Given the description of an element on the screen output the (x, y) to click on. 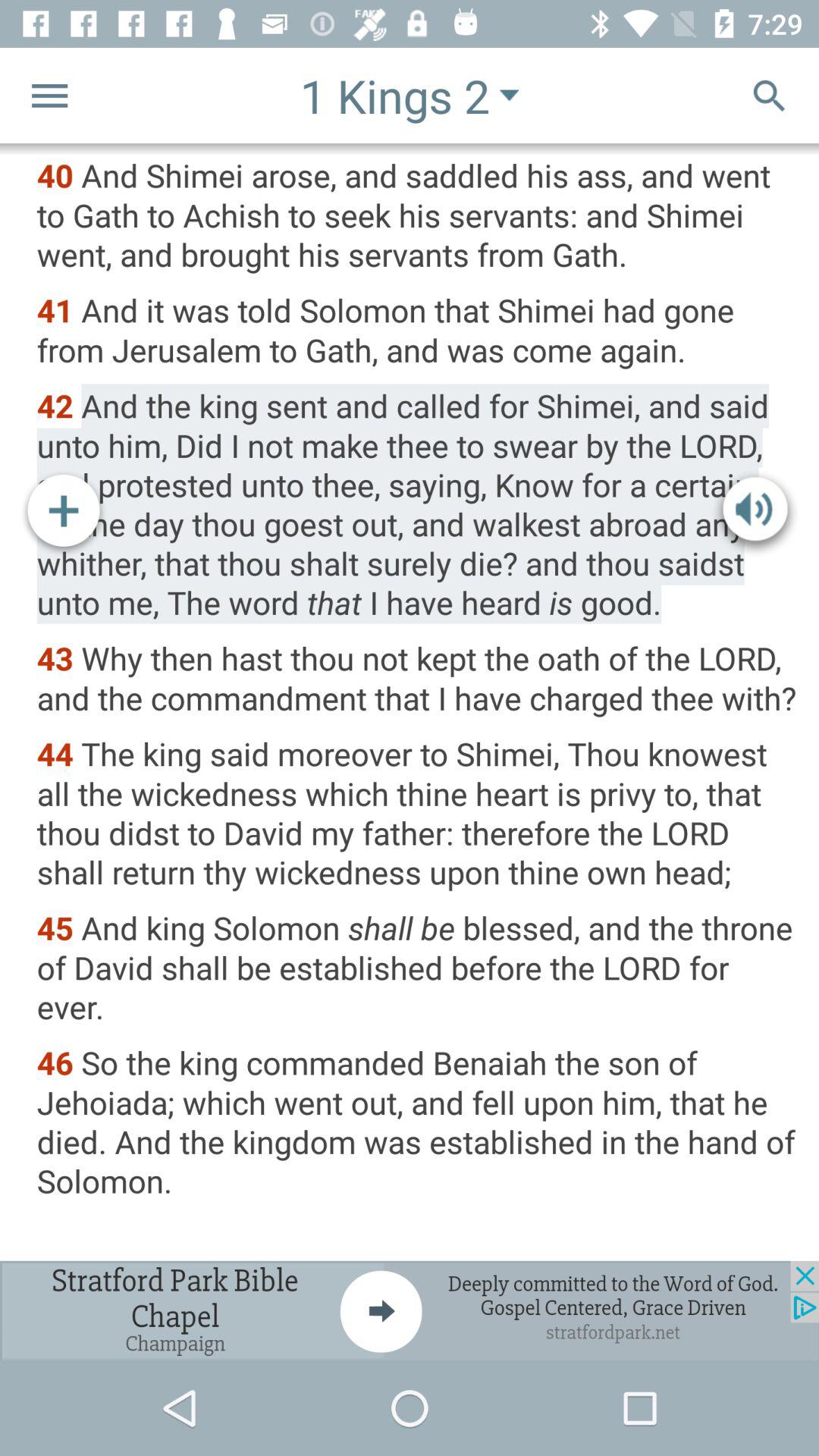
go to next (409, 1310)
